Given the description of an element on the screen output the (x, y) to click on. 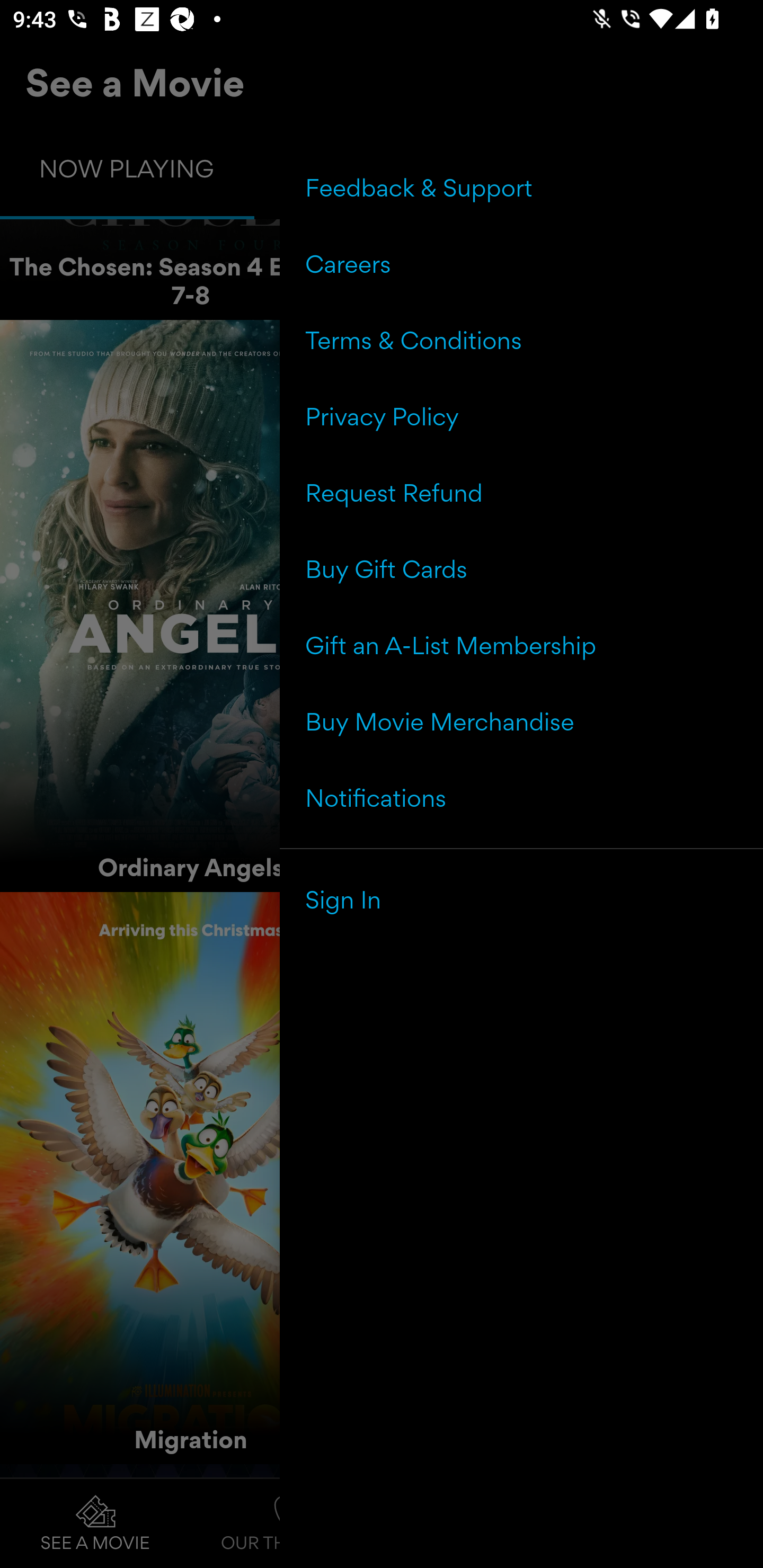
Feedback & Support (521, 186)
Careers (521, 263)
Terms & Conditions (521, 339)
Privacy Policy (521, 415)
Request Refund (521, 492)
Buy Gift Cards (521, 568)
Gift an A-List Membership (521, 644)
Buy Movie Merchandise (521, 720)
Notifications (521, 796)
Sign In (521, 898)
